Given the description of an element on the screen output the (x, y) to click on. 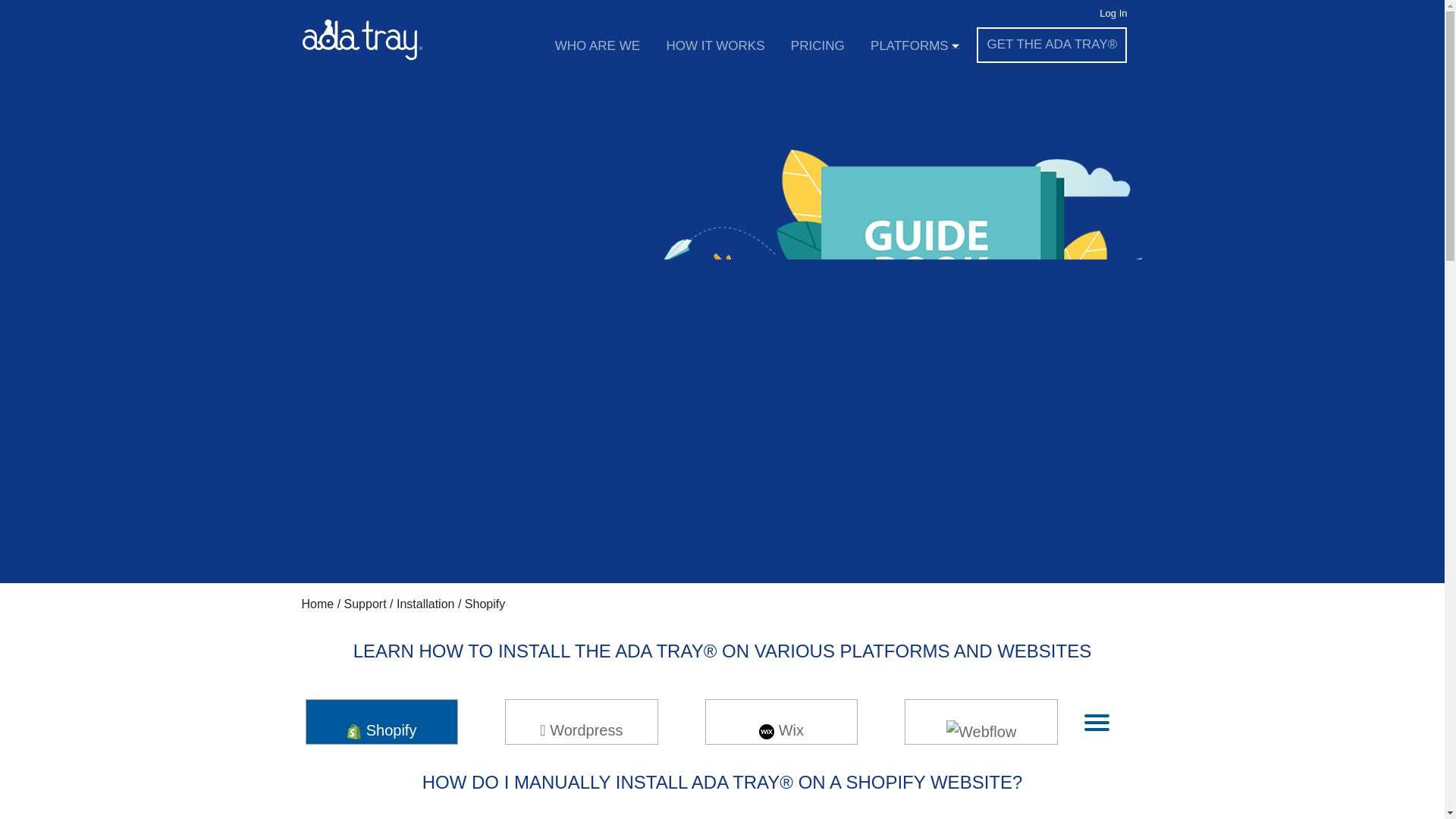
Webflow (981, 742)
Wix (781, 730)
PLATFORMS (914, 45)
Wordpress (581, 730)
PRICING (818, 45)
Who are we (596, 45)
Log In (1112, 13)
Support (365, 603)
Pricing (818, 45)
Shopify (381, 730)
Log In (1112, 13)
Platforms (914, 45)
WHO ARE WE (596, 45)
How It Works (715, 45)
Home (317, 603)
